Given the description of an element on the screen output the (x, y) to click on. 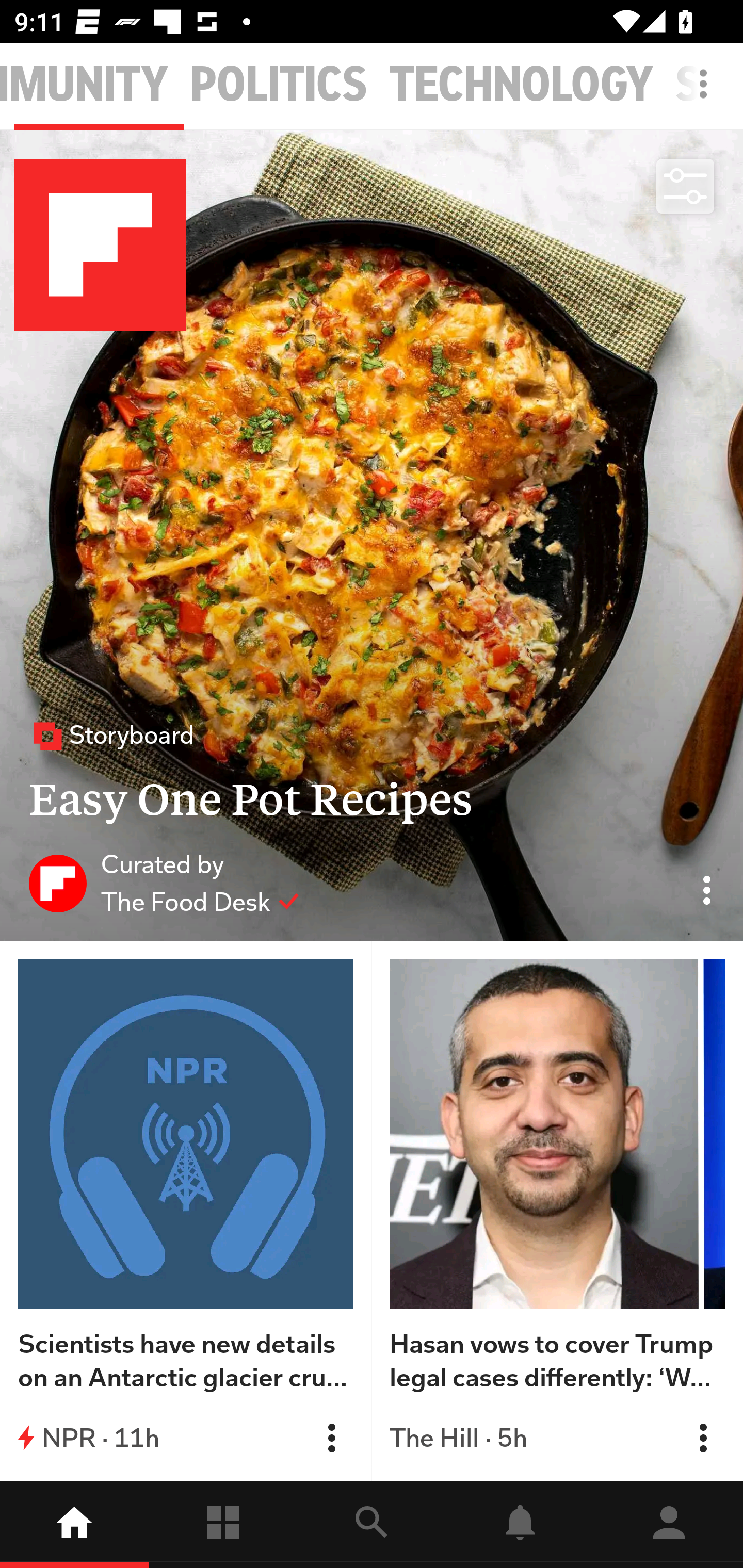
COMMUNITY (84, 84)
POLITICS (278, 84)
TECHNOLOGY (521, 84)
More options (706, 93)
Curated by The Food Desk (163, 882)
NPR · 11h Flip into Magazine (185, 1437)
The Hill · 5h Flip into Magazine (557, 1437)
Flip into Magazine (331, 1437)
Flip into Magazine (703, 1437)
home (74, 1524)
Following (222, 1524)
explore (371, 1524)
Notifications (519, 1524)
Profile (668, 1524)
